Given the description of an element on the screen output the (x, y) to click on. 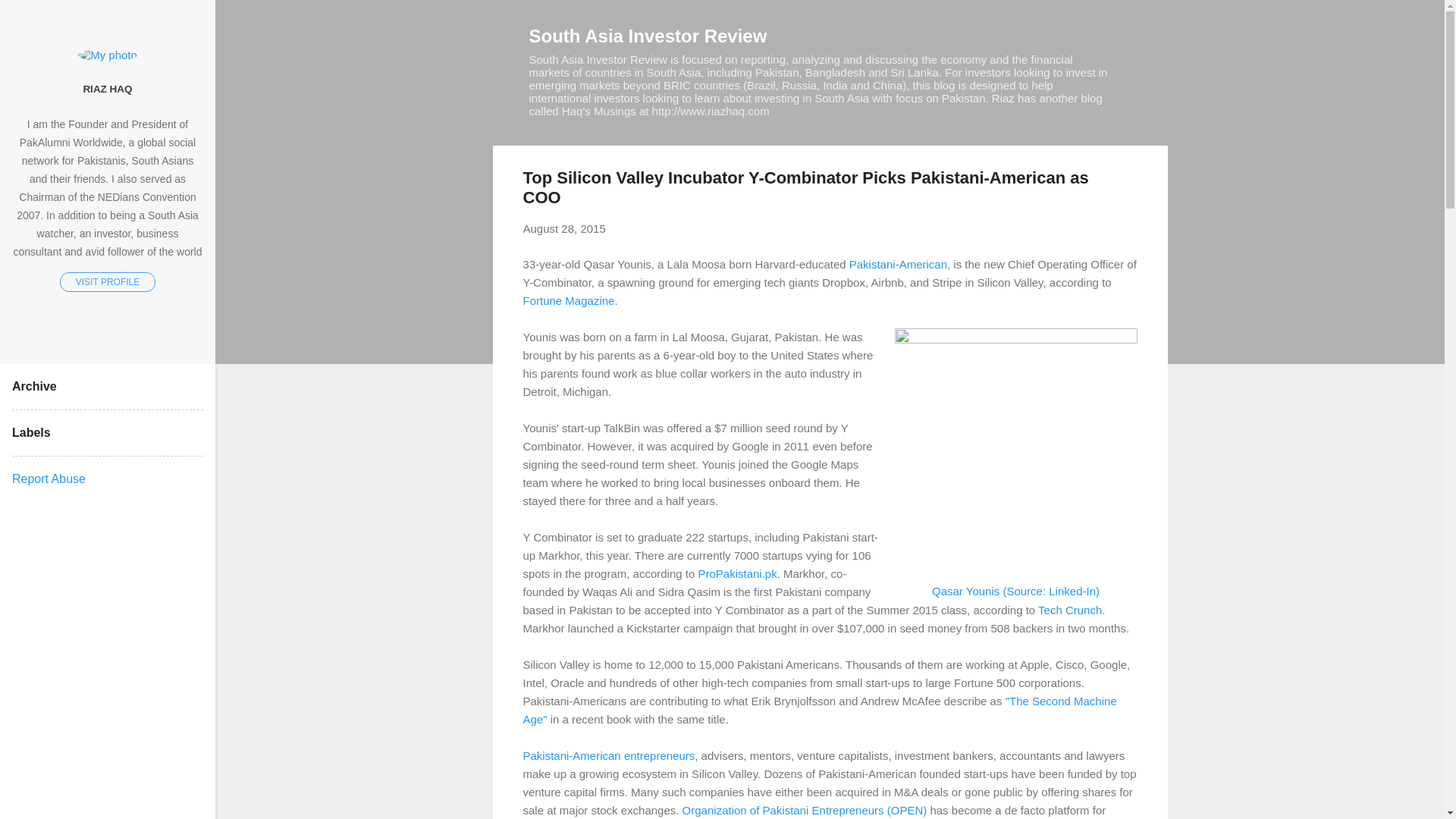
"The Second Machine Age" (819, 709)
ProPakistani.pk (736, 573)
South Asia Investor Review (648, 35)
Pakistani-American (897, 264)
Search (29, 18)
August 28, 2015 (563, 228)
Fortune Magazine (568, 300)
Tech Crunch (1070, 609)
Pakistani-American entrepreneurs (608, 755)
permanent link (563, 228)
